Given the description of an element on the screen output the (x, y) to click on. 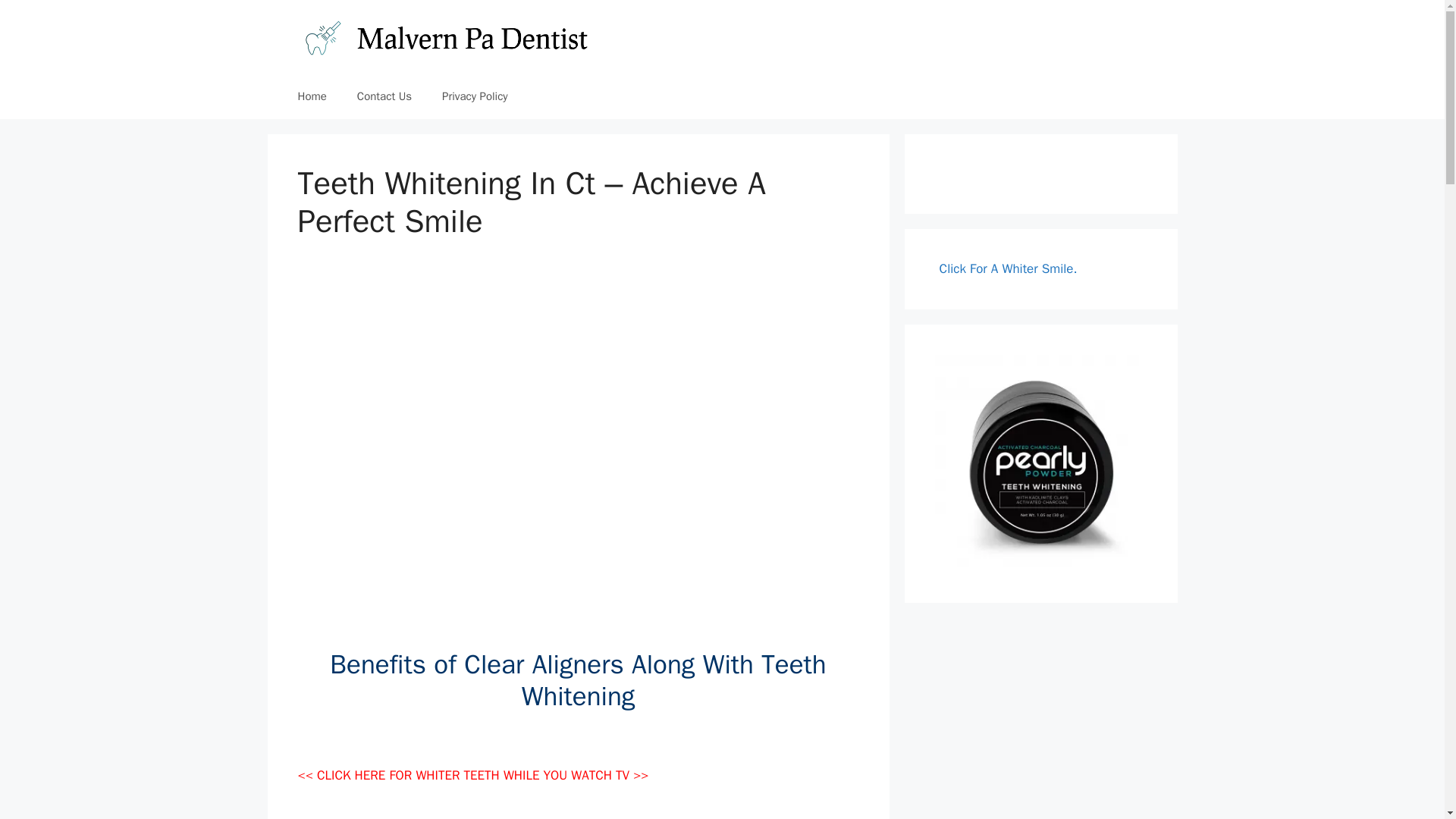
MalvernPaDentist (444, 35)
Contact Us (384, 95)
Home (311, 95)
MalvernPaDentist (444, 36)
Privacy Policy (474, 95)
Click For A Whiter Smile. (1008, 268)
